Given the description of an element on the screen output the (x, y) to click on. 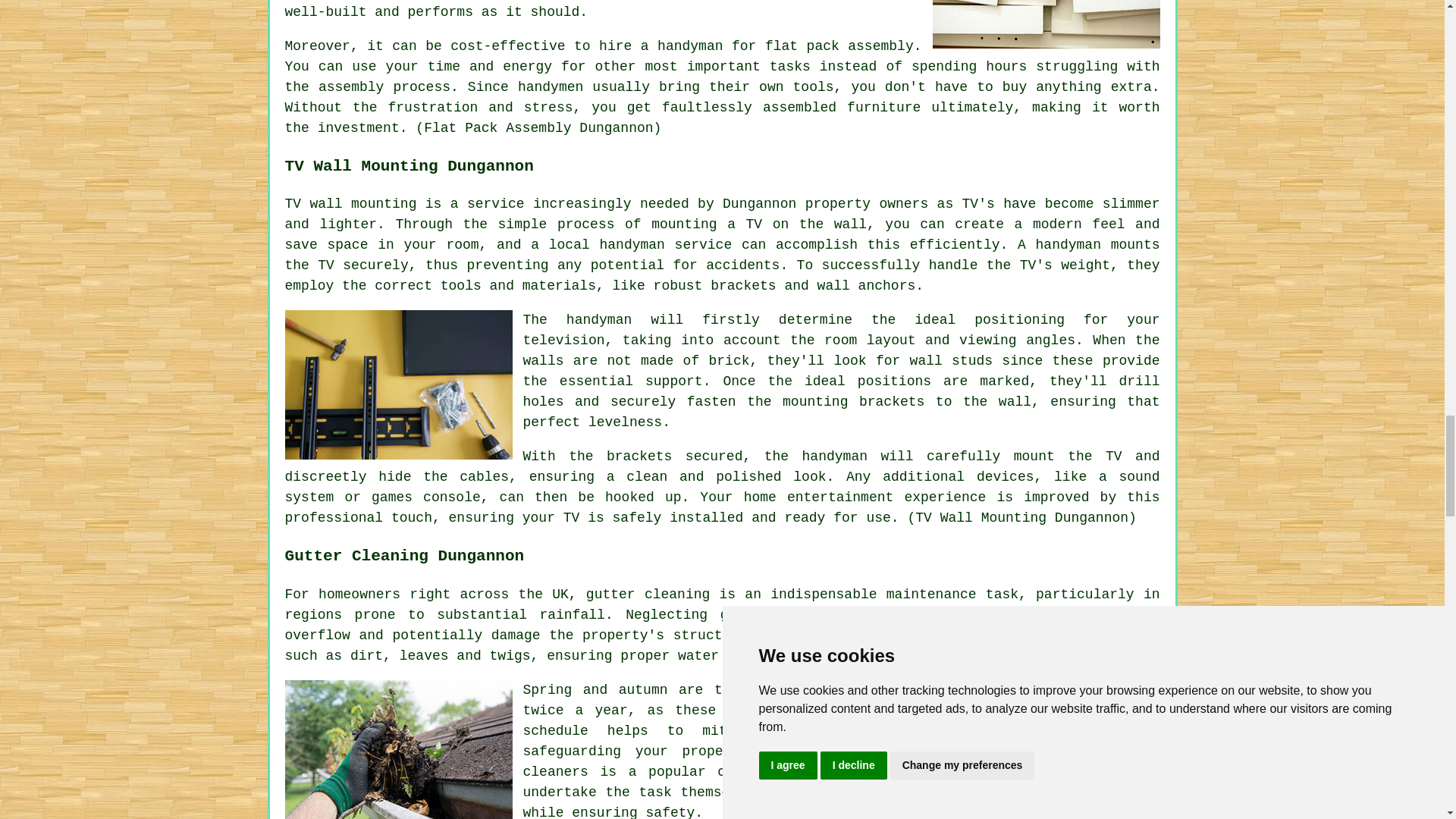
TV wall mounting (350, 203)
Handyman Flat Pack Assembly Dungannon (1046, 24)
handyman (690, 46)
